Given the description of an element on the screen output the (x, y) to click on. 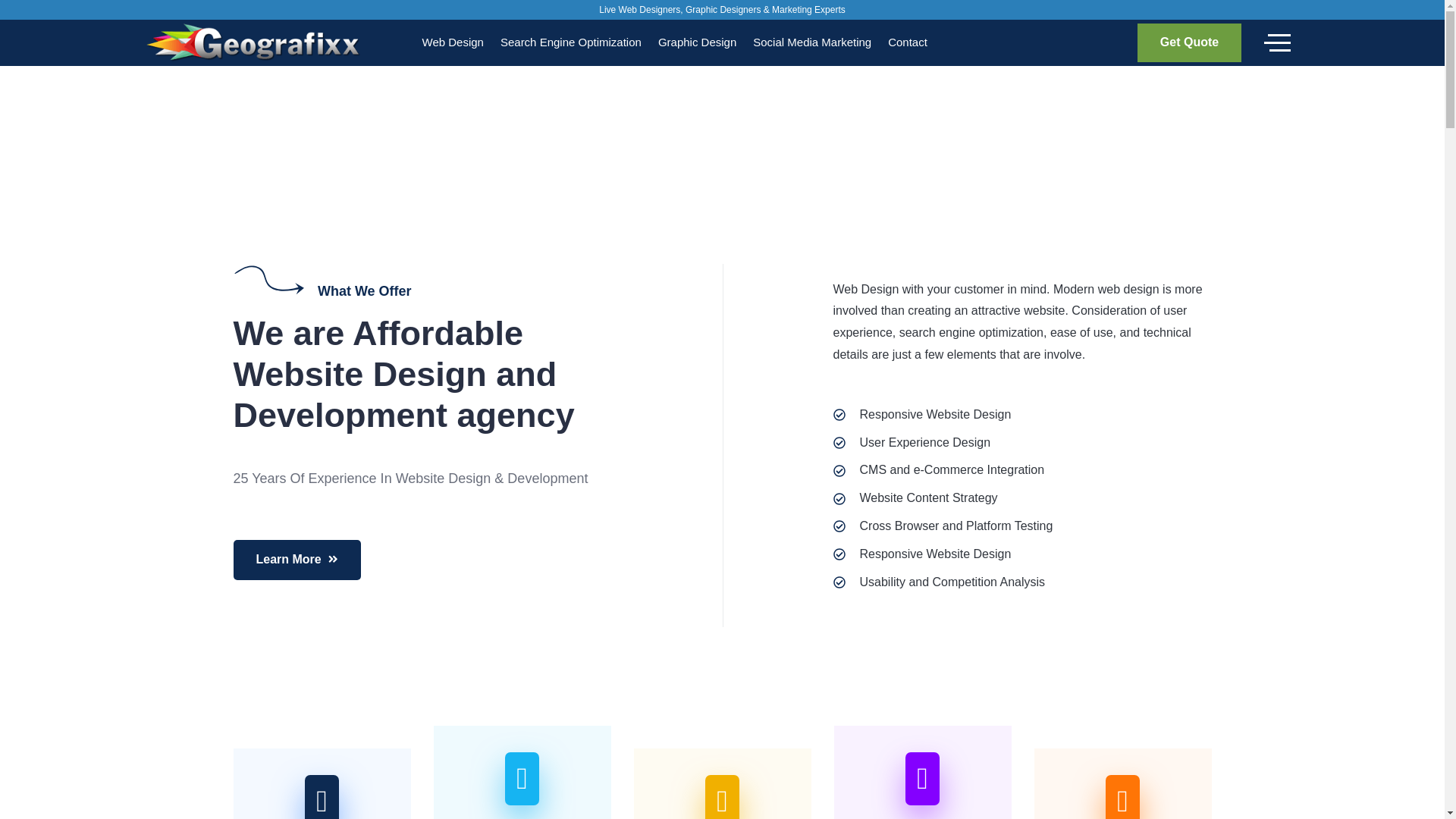
Contact (907, 42)
Graphic Design (696, 42)
Search Engine Optimization (570, 42)
Web Design (454, 42)
Social Media Marketing (812, 42)
